Given the description of an element on the screen output the (x, y) to click on. 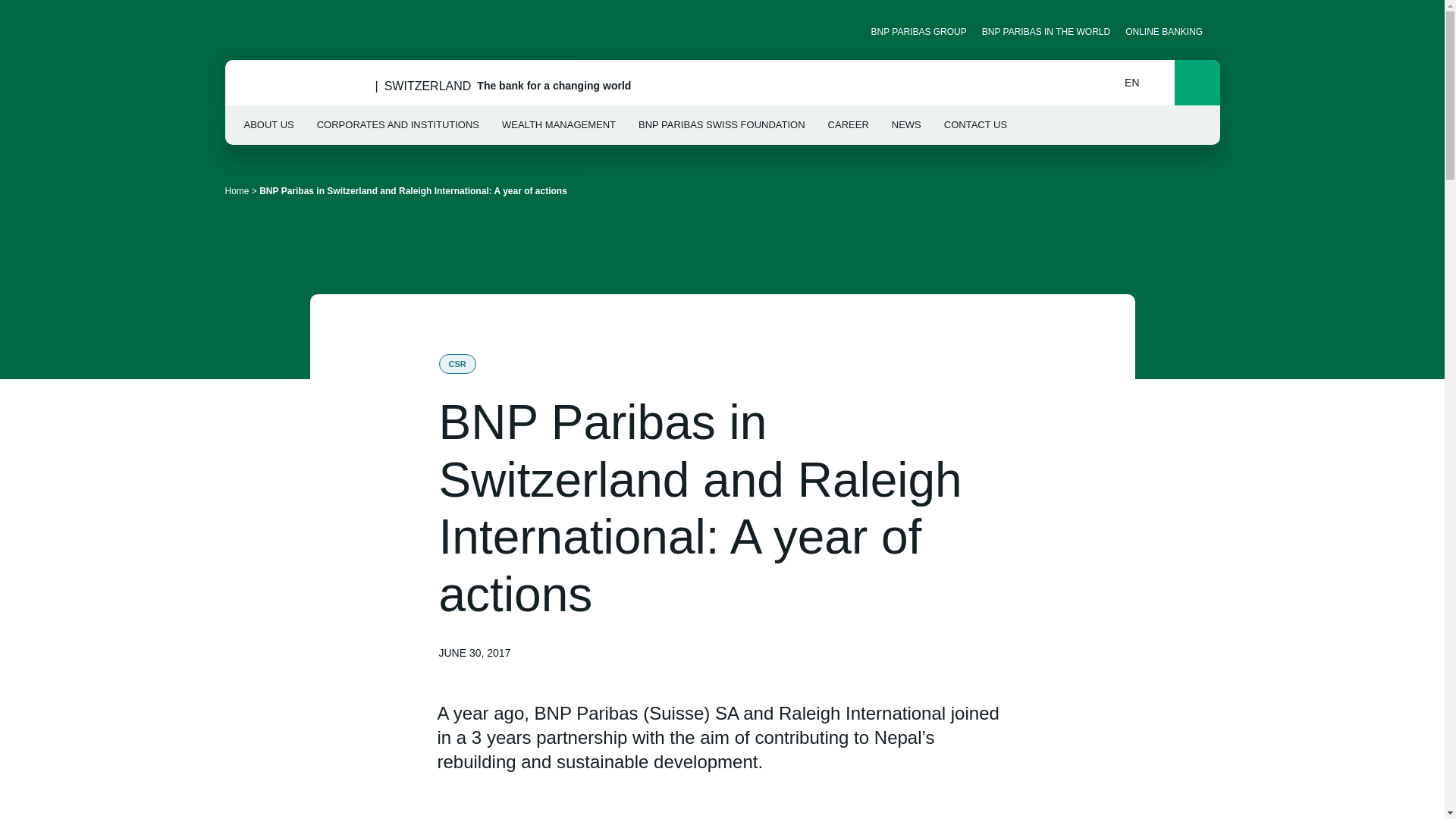
ABOUT US (269, 124)
INSTAGRAM (288, 31)
YOUTUBE (263, 31)
Youtube - New window (263, 31)
CORPORATES AND INSTITUTIONS (398, 124)
BNP PARIBAS SWISS FOUNDATION (722, 124)
Linkedin - New window (237, 31)
BNP PARIBAS IN THE WORLD (1046, 31)
ONLINE BANKING (1169, 31)
WEALTH MANAGEMENT (558, 124)
